Given the description of an element on the screen output the (x, y) to click on. 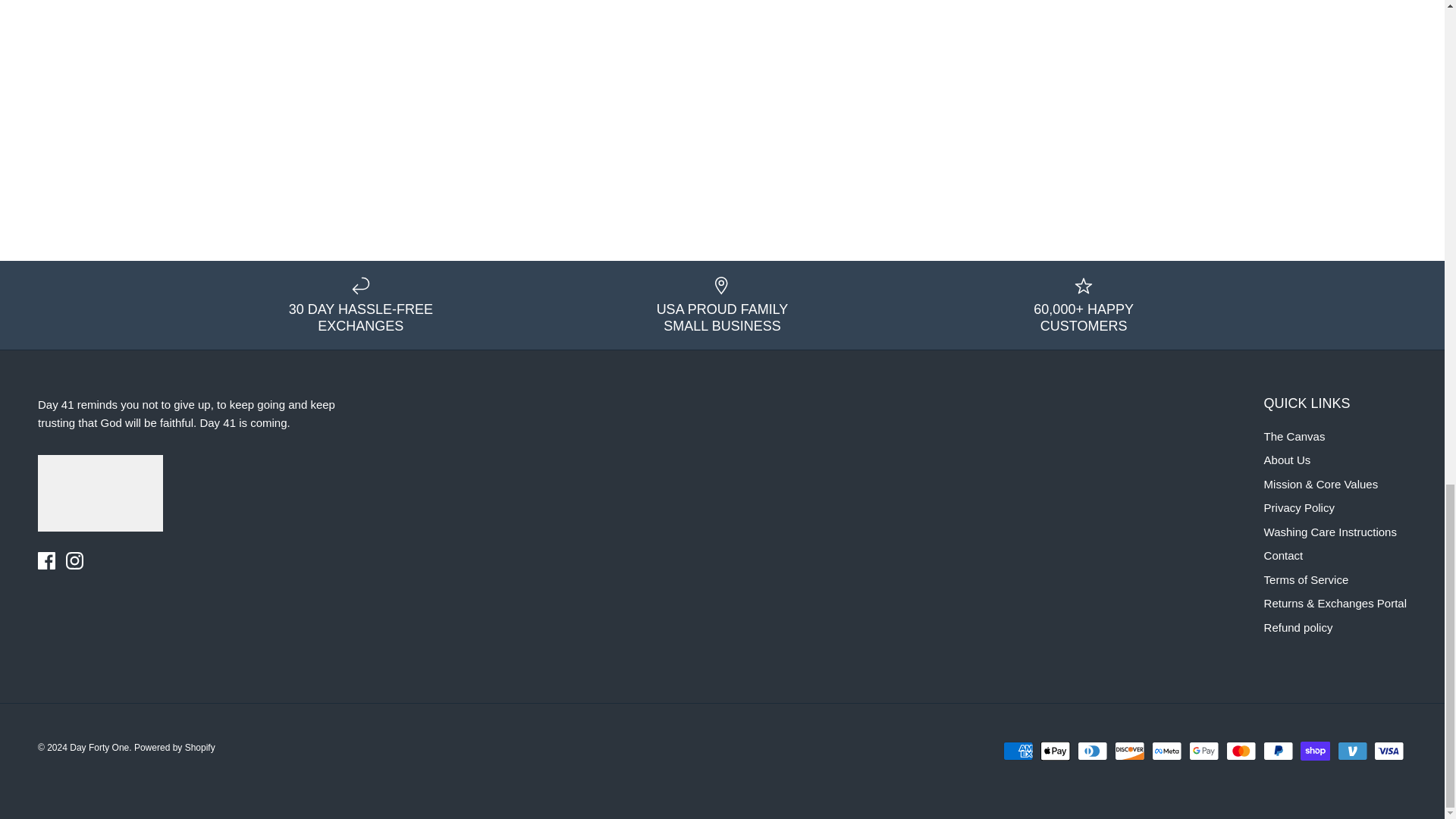
Venmo (1352, 751)
Facebook (46, 560)
Mastercard (1240, 751)
Visa (1388, 751)
Shop Pay (1315, 751)
Instagram (73, 560)
Meta Pay (1166, 751)
Google Pay (1203, 751)
Diners Club (1092, 751)
Apple Pay (1055, 751)
American Express (1018, 751)
Discover (1129, 751)
PayPal (1277, 751)
